Given the description of an element on the screen output the (x, y) to click on. 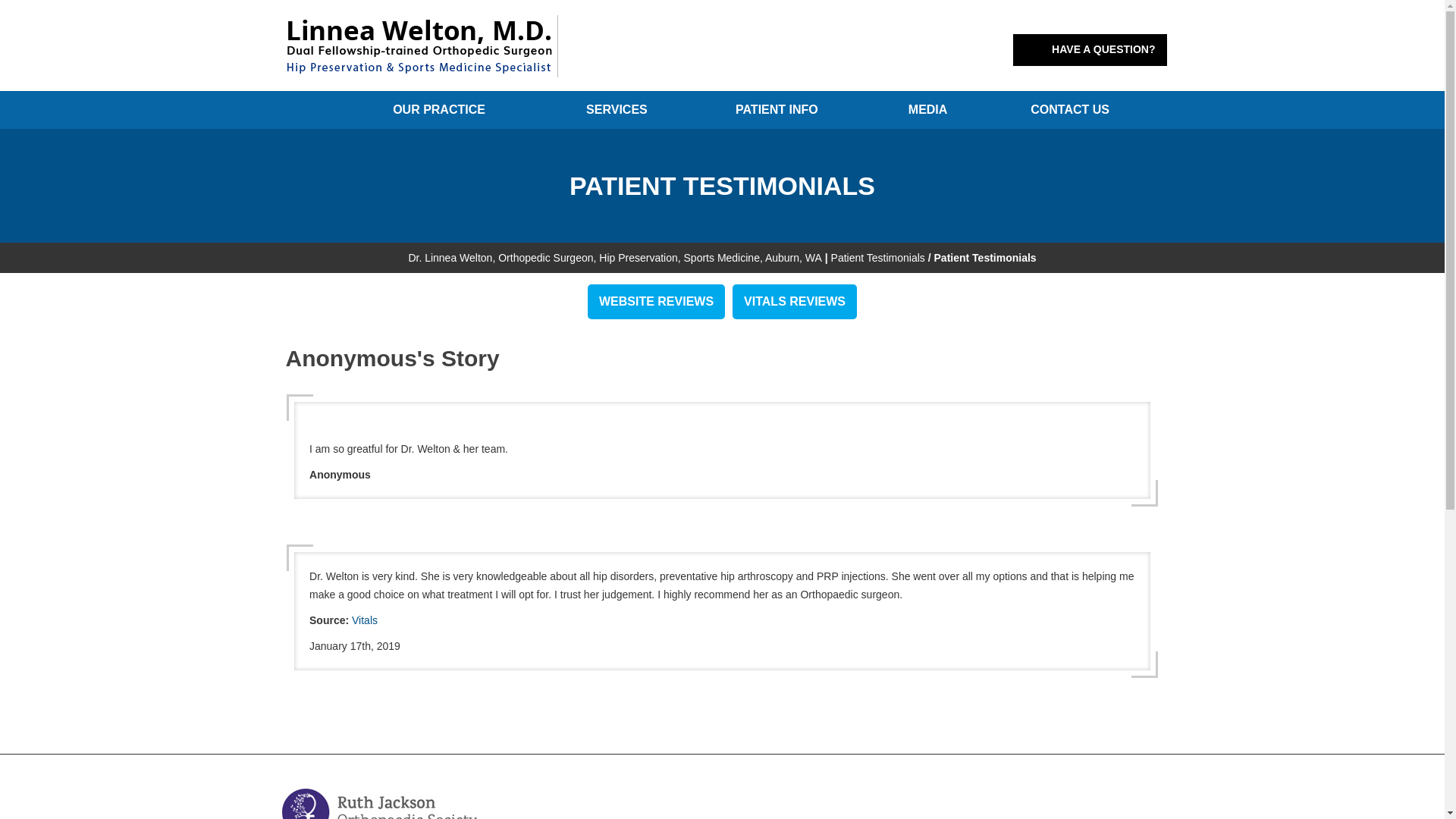
HAVE A QUESTION? (1089, 50)
HOME (312, 109)
MEDIA (928, 109)
PATIENT INFO (775, 109)
OUR PRACTICE (437, 109)
SERVICES (617, 109)
